Given the description of an element on the screen output the (x, y) to click on. 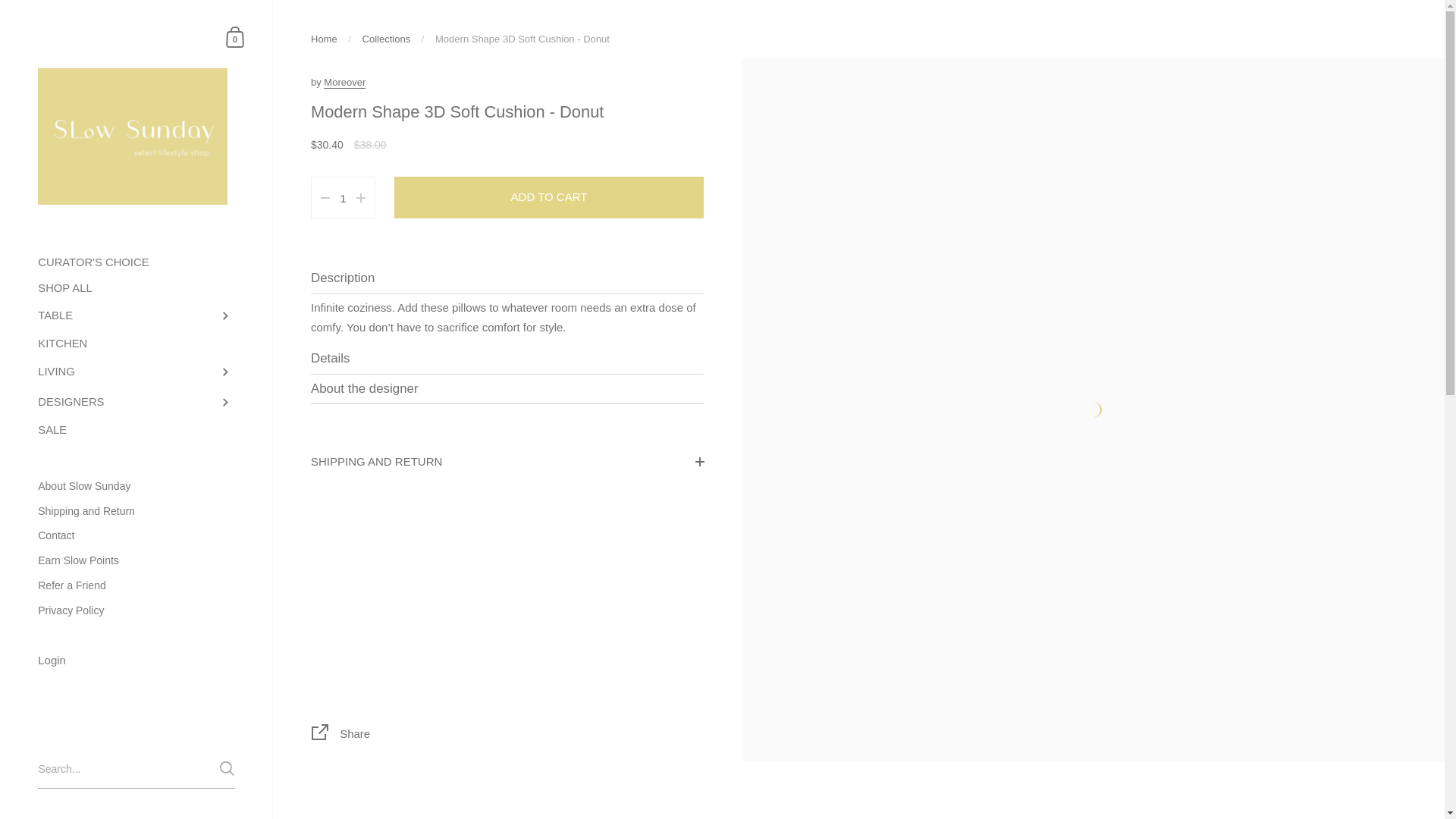
CURATOR'S CHOICE (136, 263)
TABLE (136, 316)
KITCHEN (136, 344)
Shopping Cart (235, 35)
1 (342, 198)
LIVING (136, 372)
Moreover (344, 81)
SHOP ALL (136, 289)
DESIGNERS (136, 402)
